Given the description of an element on the screen output the (x, y) to click on. 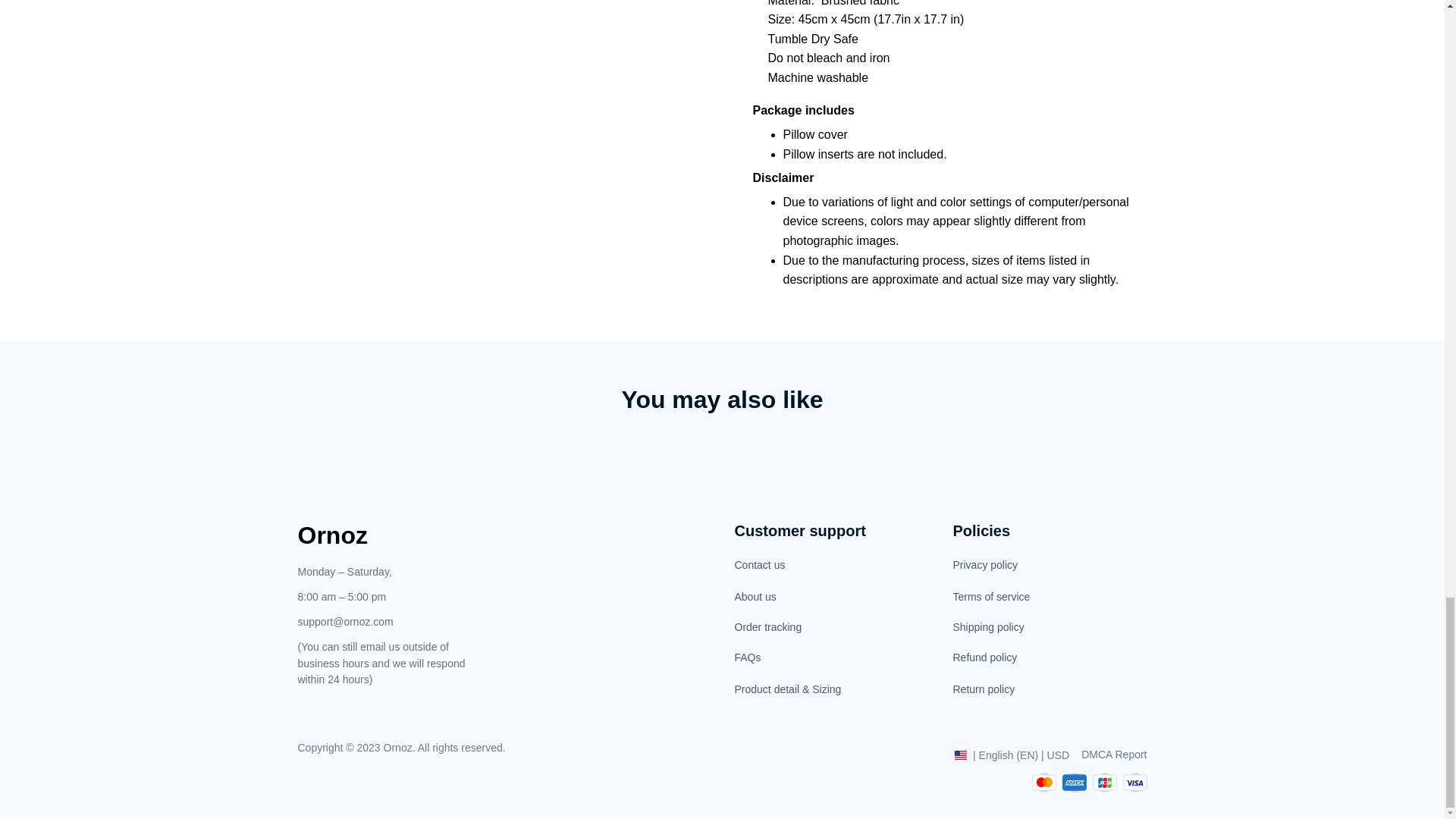
DMCA Report (1114, 754)
Shipping policy (1049, 627)
Privacy policy (1049, 567)
Contact us (830, 567)
FAQs (830, 657)
Order tracking (830, 627)
About us (830, 597)
Refund policy (1049, 657)
Return policy (1049, 688)
Terms of service (1049, 597)
